Given the description of an element on the screen output the (x, y) to click on. 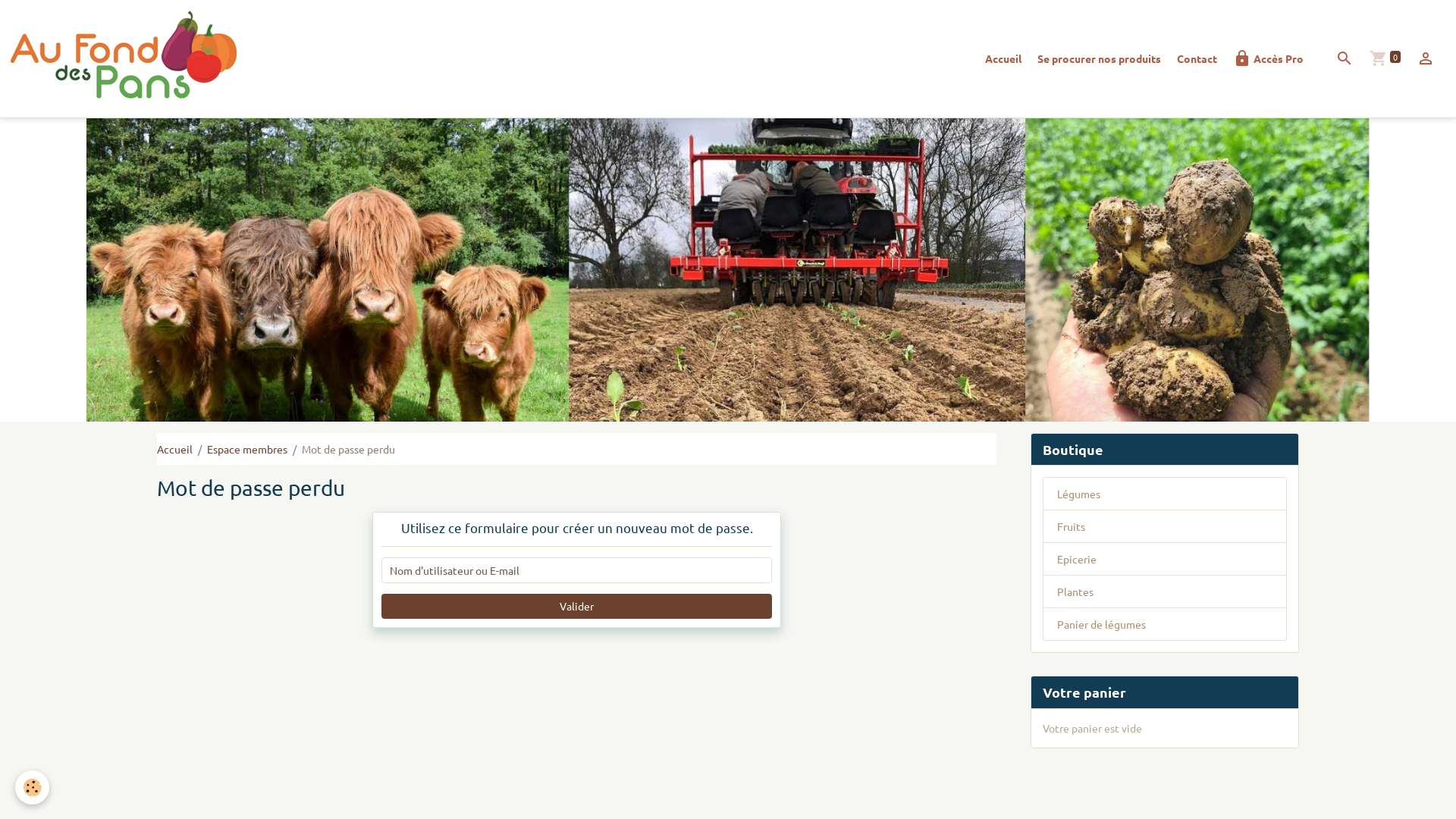
Espace membres Element type: text (247, 448)
Accueil Element type: text (174, 448)
Plantes Element type: text (1165, 591)
Fruits Element type: text (1165, 526)
Contact Element type: text (1196, 58)
Epicerie Element type: text (1165, 559)
Se procurer nos produits Element type: text (1099, 58)
Valider Element type: text (576, 606)
Accueil Element type: text (1002, 58)
0 Element type: text (1384, 58)
Boutique Element type: text (1164, 449)
